Given the description of an element on the screen output the (x, y) to click on. 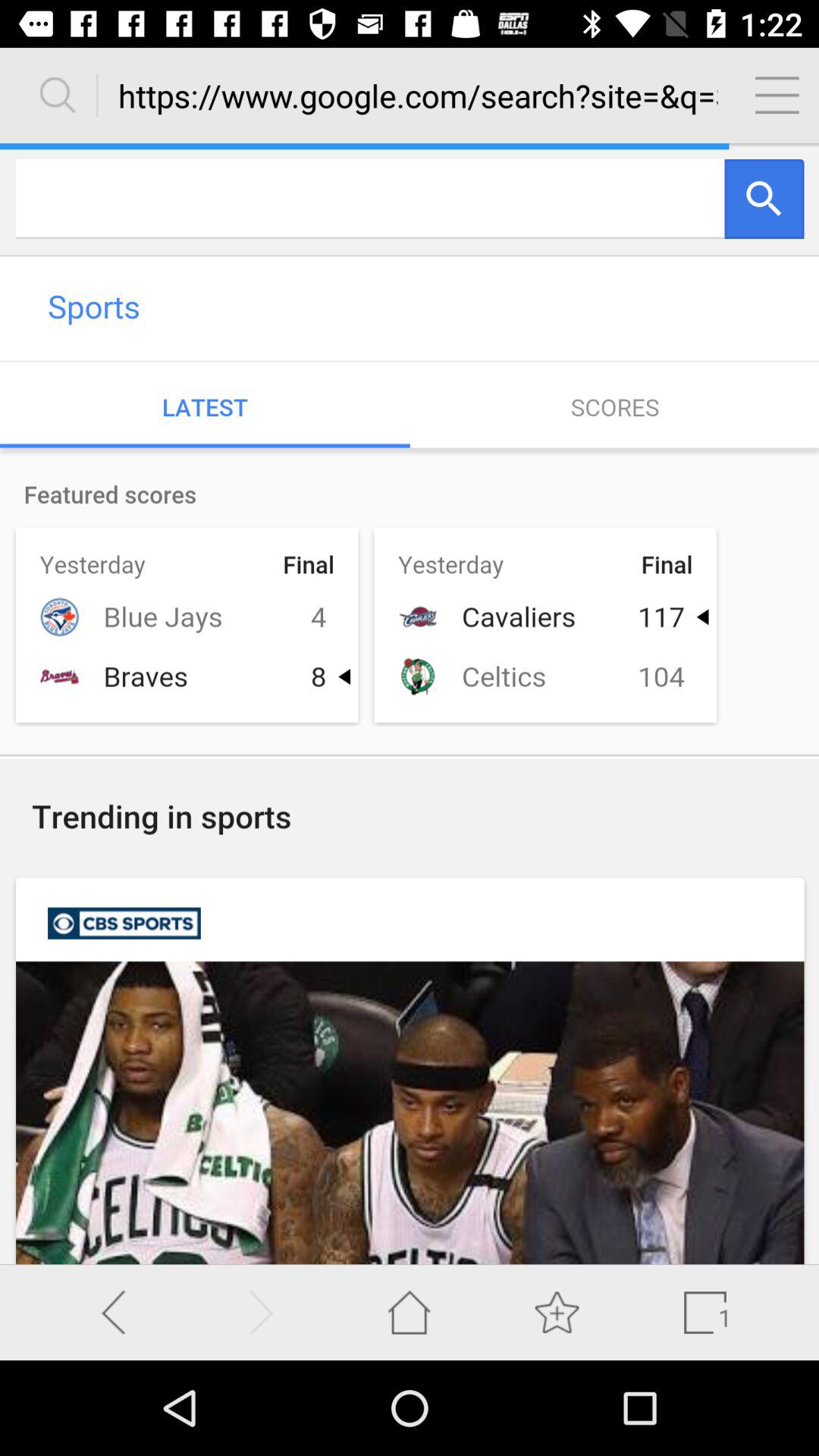
setting (777, 95)
